Given the description of an element on the screen output the (x, y) to click on. 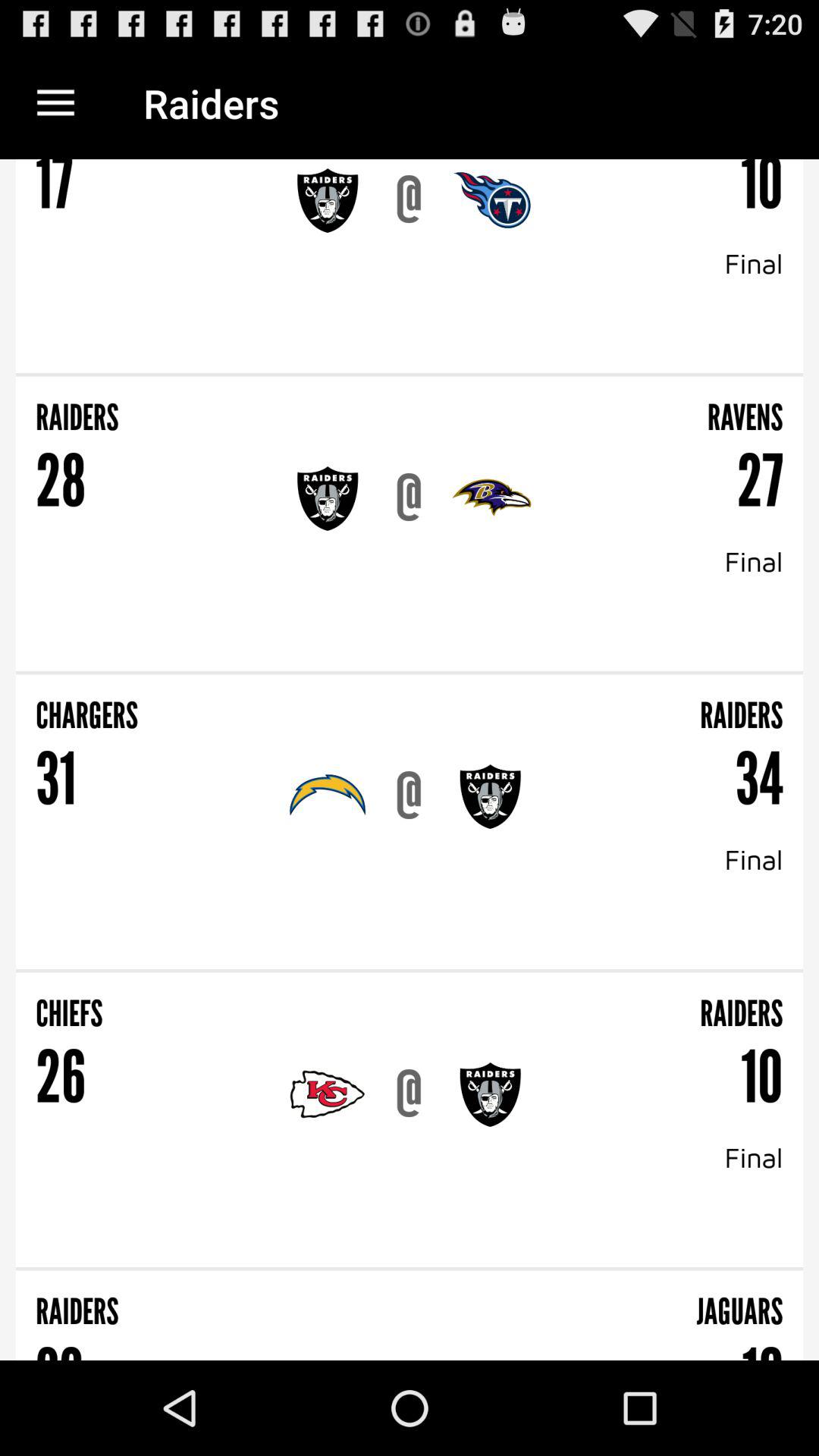
jump until the ravens item (597, 407)
